Given the description of an element on the screen output the (x, y) to click on. 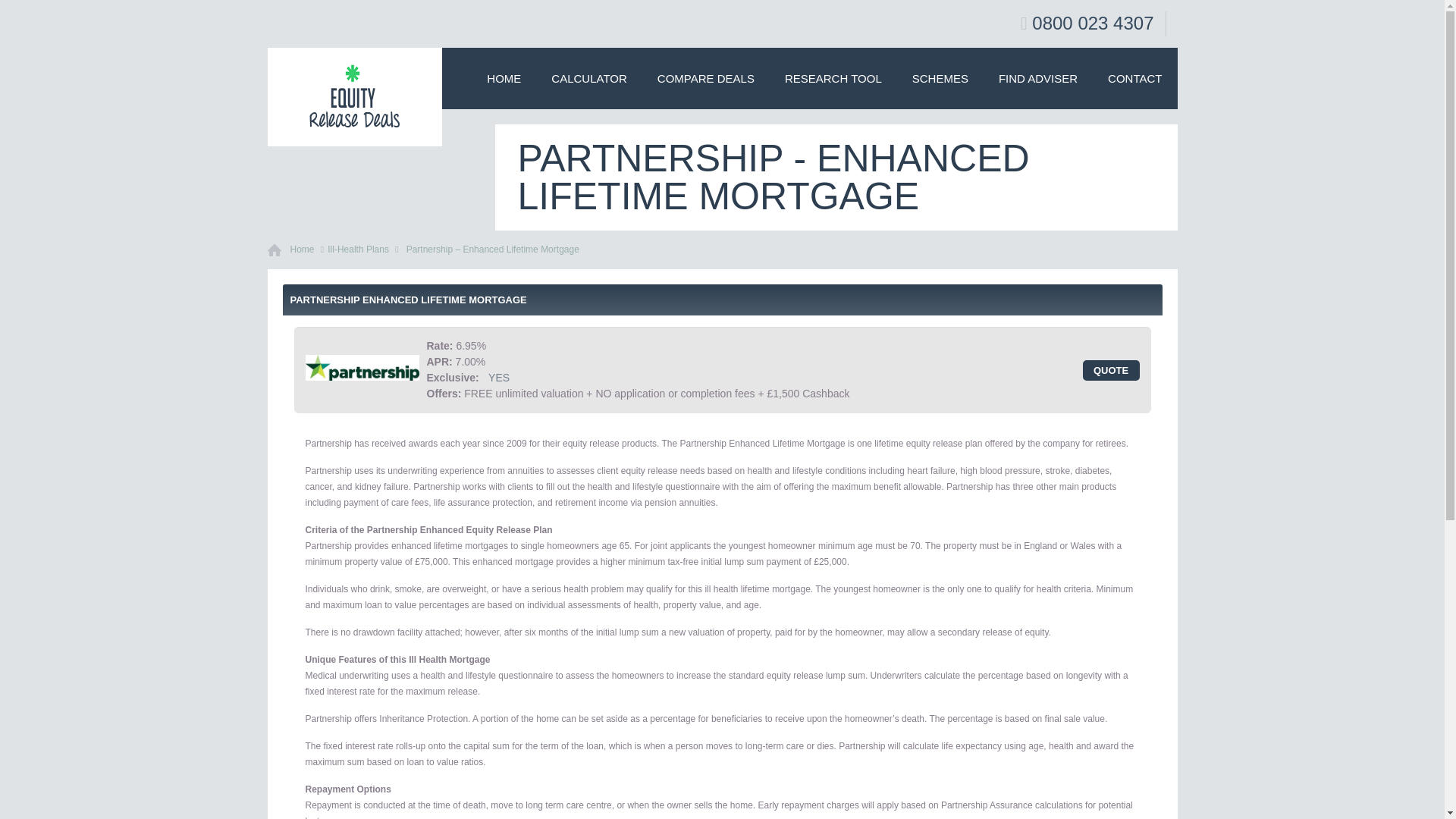
SCHEMES (940, 77)
QUOTE (1111, 369)
CONTACT (1134, 77)
RESEARCH TOOL (833, 77)
CALCULATOR (588, 77)
0800 023 4307 (1092, 23)
Partnership - Enhanced Lifetime Mortgage - Quote (1111, 369)
Equity Release Deals (353, 96)
HOME (503, 77)
Home (301, 249)
